Given the description of an element on the screen output the (x, y) to click on. 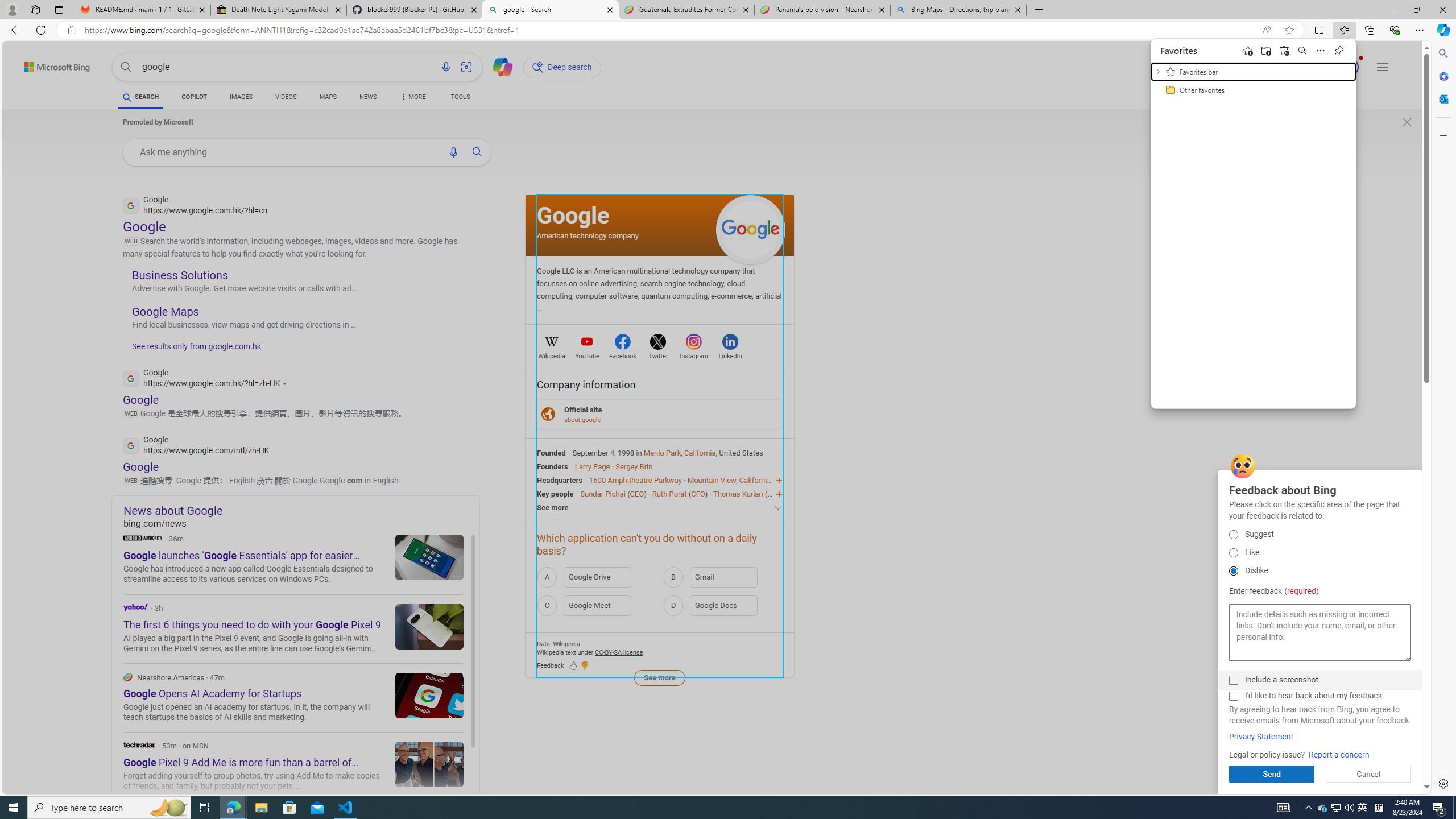
Notification Chevron (1308, 807)
Privacy Statement (1362, 807)
Running applications (1261, 737)
Search favorites (700, 807)
Pin favorites (1302, 49)
Start (1338, 49)
